Given the description of an element on the screen output the (x, y) to click on. 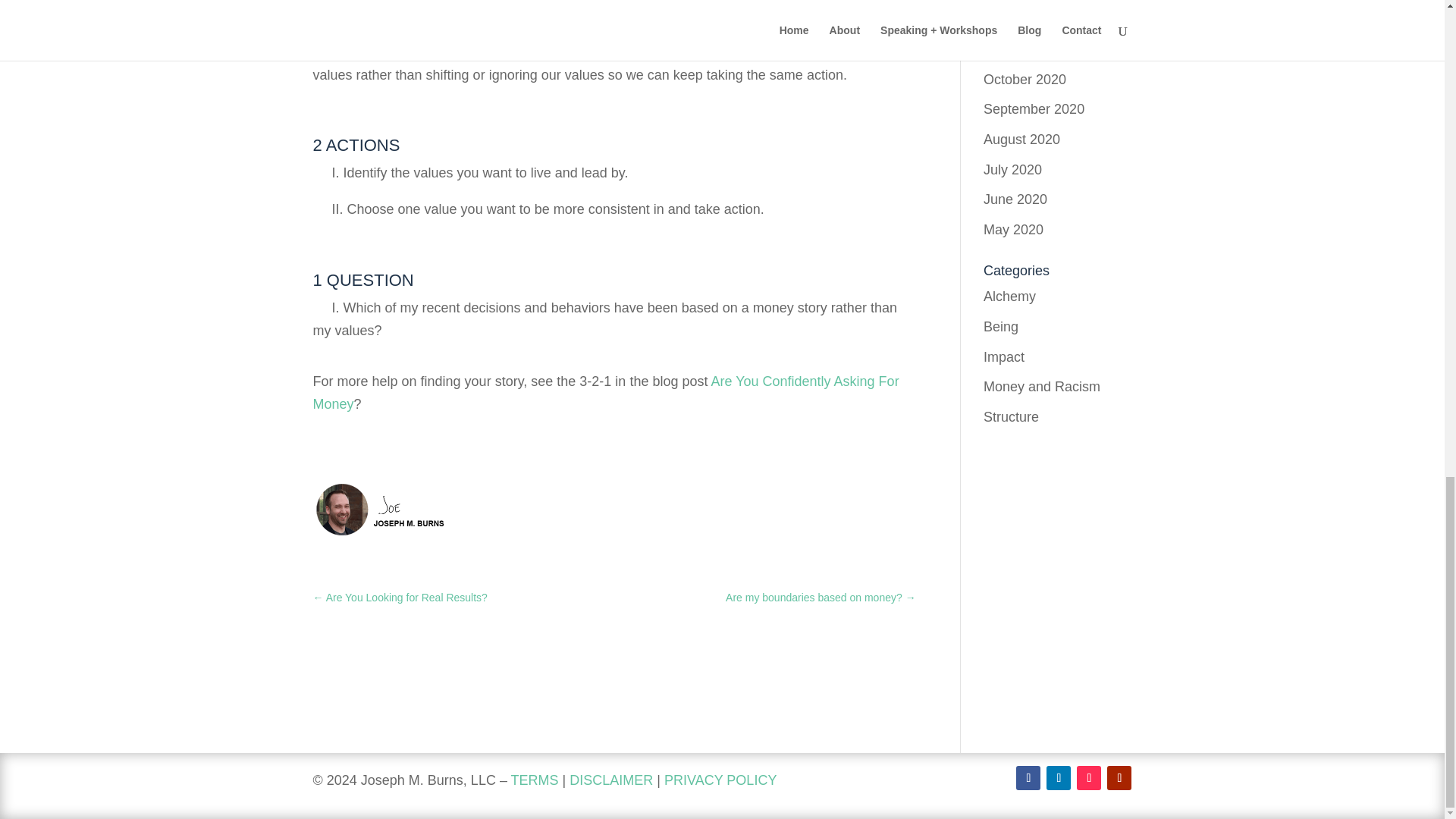
Follow on Facebook (1028, 777)
Follow on Youtube (1118, 777)
Are You Confidently Asking For Money (605, 392)
Follow on TikTok (1088, 777)
Follow on LinkedIn (1058, 777)
